Given the description of an element on the screen output the (x, y) to click on. 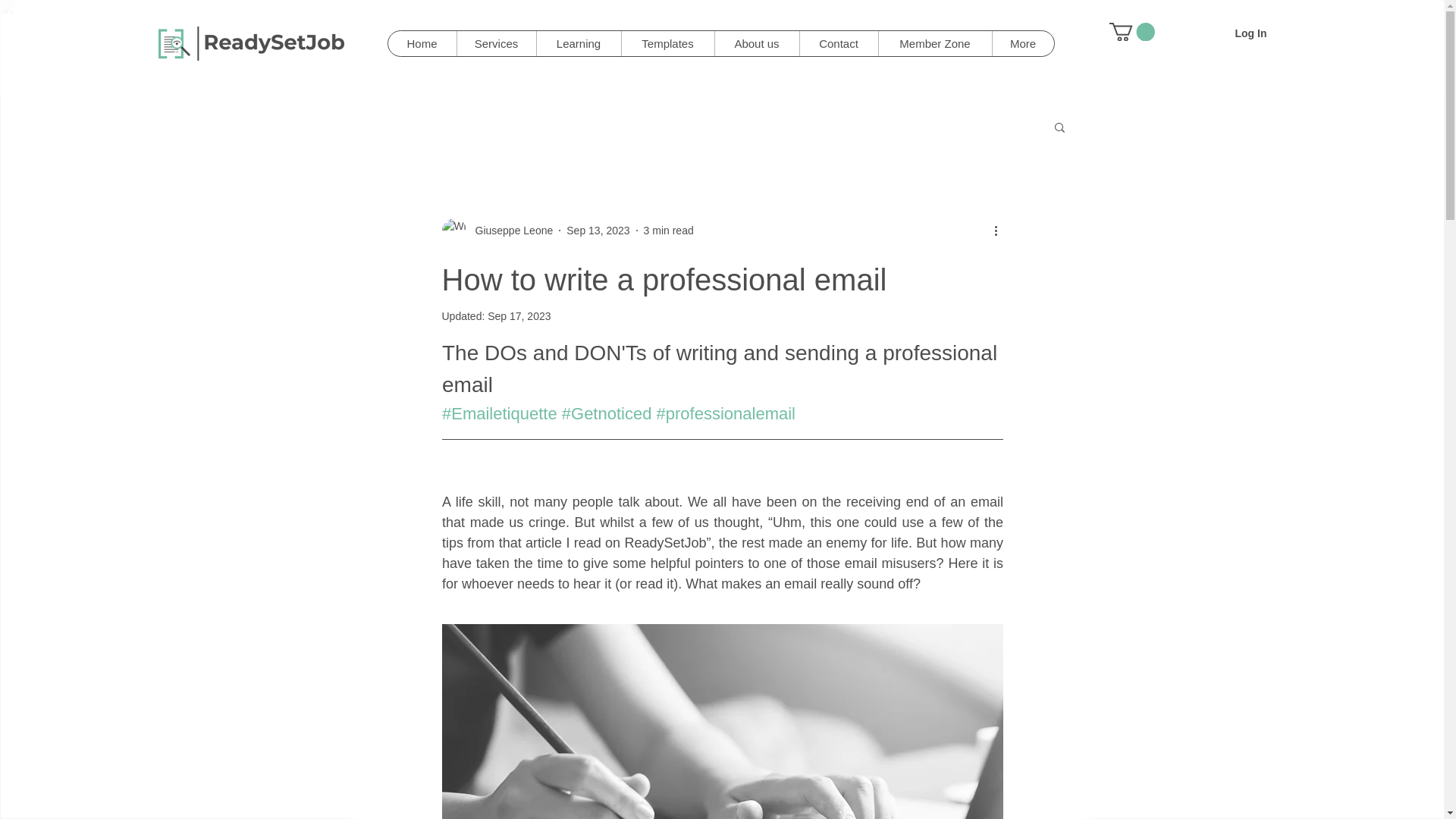
Contact (838, 43)
Log In (1250, 33)
Templates (666, 43)
About us (756, 43)
Sep 13, 2023 (597, 230)
Member Zone (934, 43)
3 min read (668, 230)
Home (422, 43)
Services (496, 43)
Sep 17, 2023 (518, 316)
Learning (577, 43)
Giuseppe Leone (497, 230)
Giuseppe Leone (509, 230)
